Given the description of an element on the screen output the (x, y) to click on. 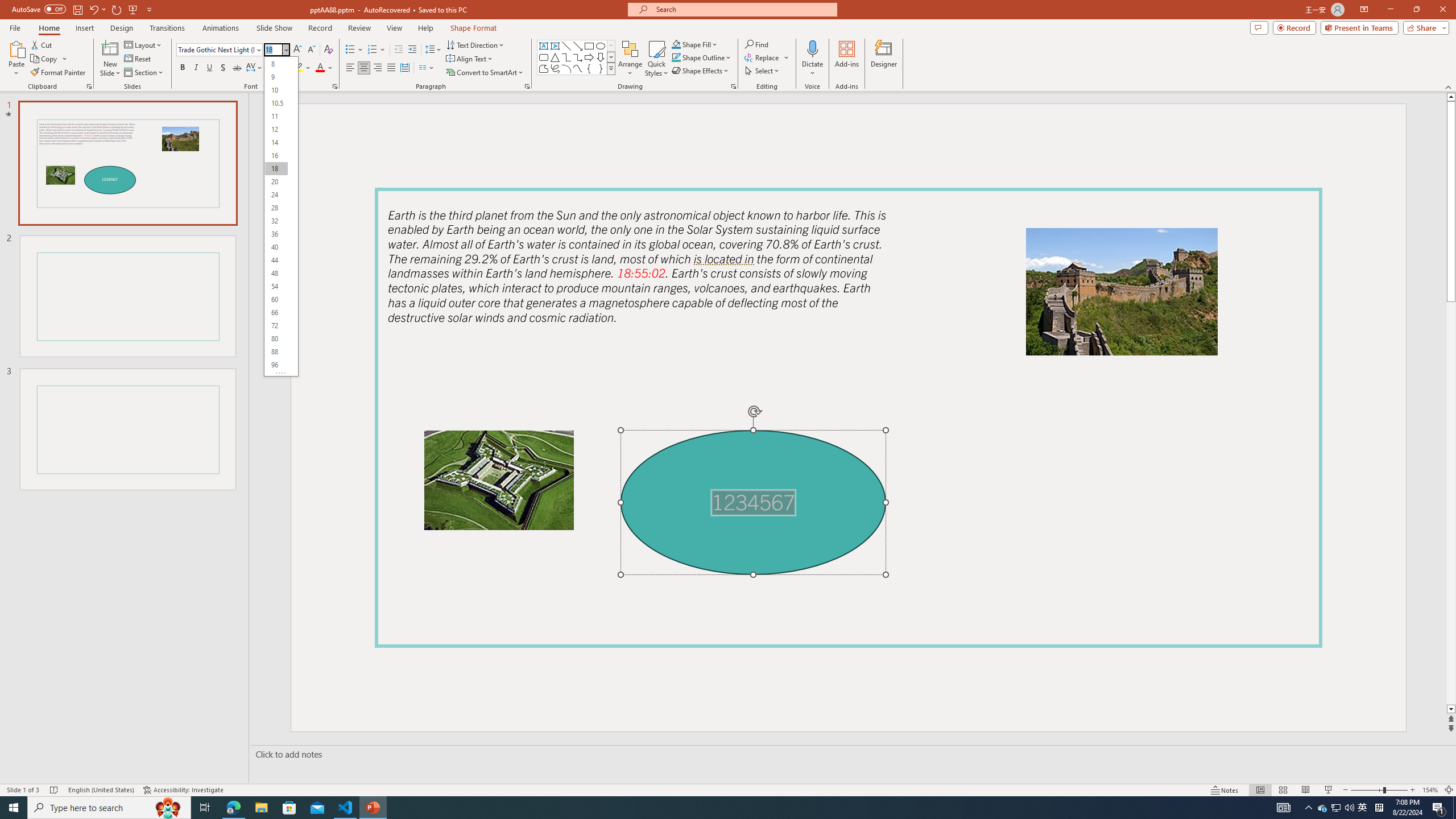
10.5 (276, 102)
12 (276, 128)
